Given the description of an element on the screen output the (x, y) to click on. 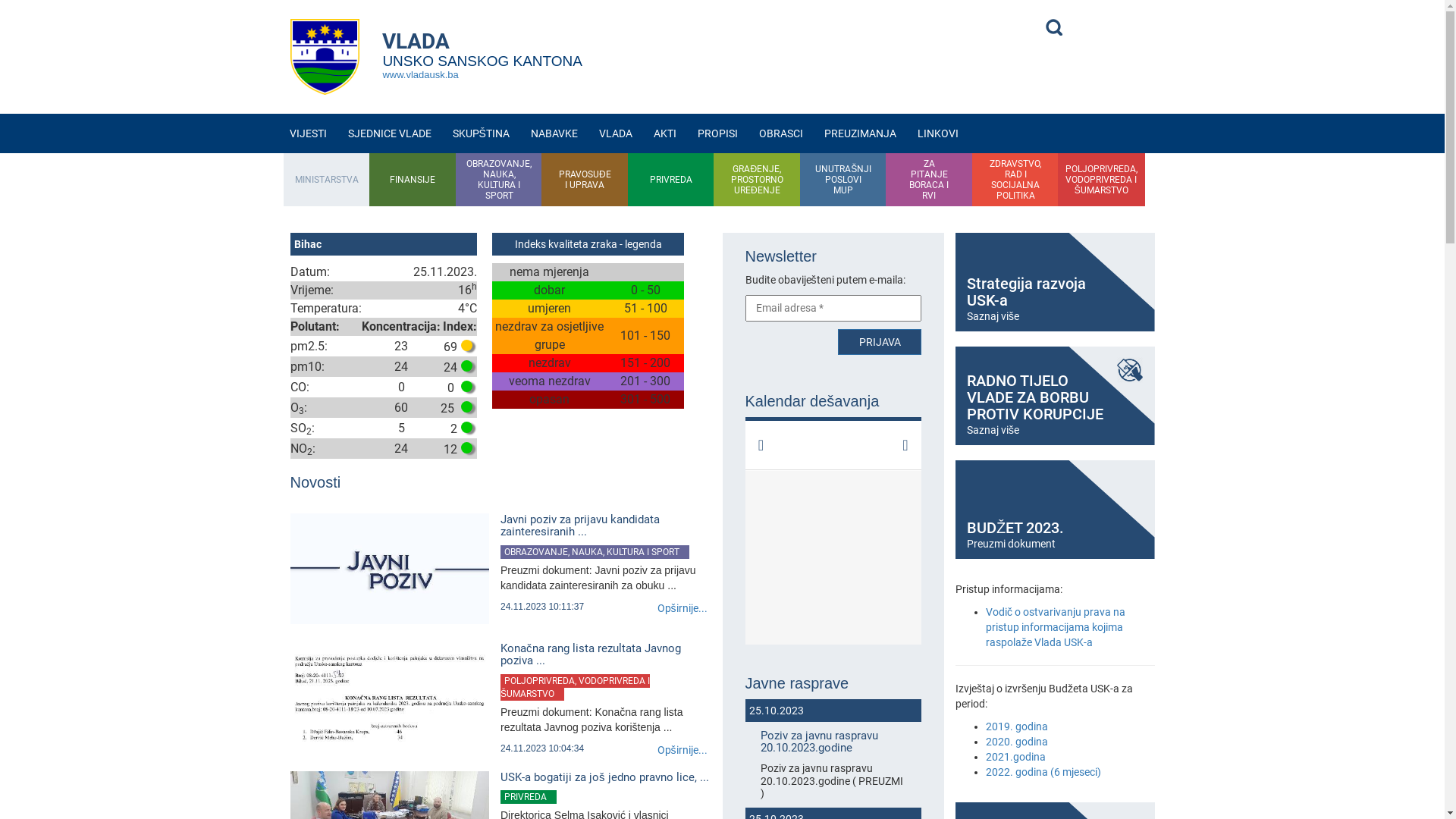
PREUZIMANJA Element type: text (859, 133)
PRIJAVA Element type: text (879, 341)
2019. godina Element type: text (1016, 726)
Javni poziv za prijavu kandidata zainteresiranih ... Element type: text (605, 525)
FINANSIJE Element type: text (412, 179)
www.vladausk.ba Element type: text (420, 74)
OBRAZOVANJE, NAUKA, KULTURA I SPORT Element type: text (498, 179)
PRIVREDA Element type: text (670, 179)
2020. godina Element type: text (1016, 741)
ZDRAVSTVO, RAD I SOCIJALNA POLITIKA Element type: text (1015, 179)
2022. godina (6 mjeseci) Element type: text (1043, 771)
Javne rasprave Element type: text (832, 682)
Poziv za javnu raspravu 20.10.2023.godine Element type: text (832, 741)
NABAVKE Element type: text (554, 133)
PRIVREDA Element type: text (528, 796)
OBRAZOVANJE, NAUKA, KULTURA I SPORT Element type: text (594, 551)
AKTI Element type: text (665, 133)
Novosti Element type: text (499, 492)
ZA PITANJE BORACA I RVI Element type: text (928, 179)
LINKOVI Element type: text (937, 133)
VLADA Element type: text (615, 133)
MINISTARSTVA Element type: text (326, 179)
PROPISI Element type: text (717, 133)
SJEDNICE VLADE Element type: text (388, 133)
OBRASCI Element type: text (780, 133)
2021.godina Element type: text (1015, 756)
RADNO TIJELO VLADE ZA BORBU PROTIV KORUPCIJE Element type: hover (1129, 369)
VIJESTI Element type: text (308, 133)
